Given the description of an element on the screen output the (x, y) to click on. 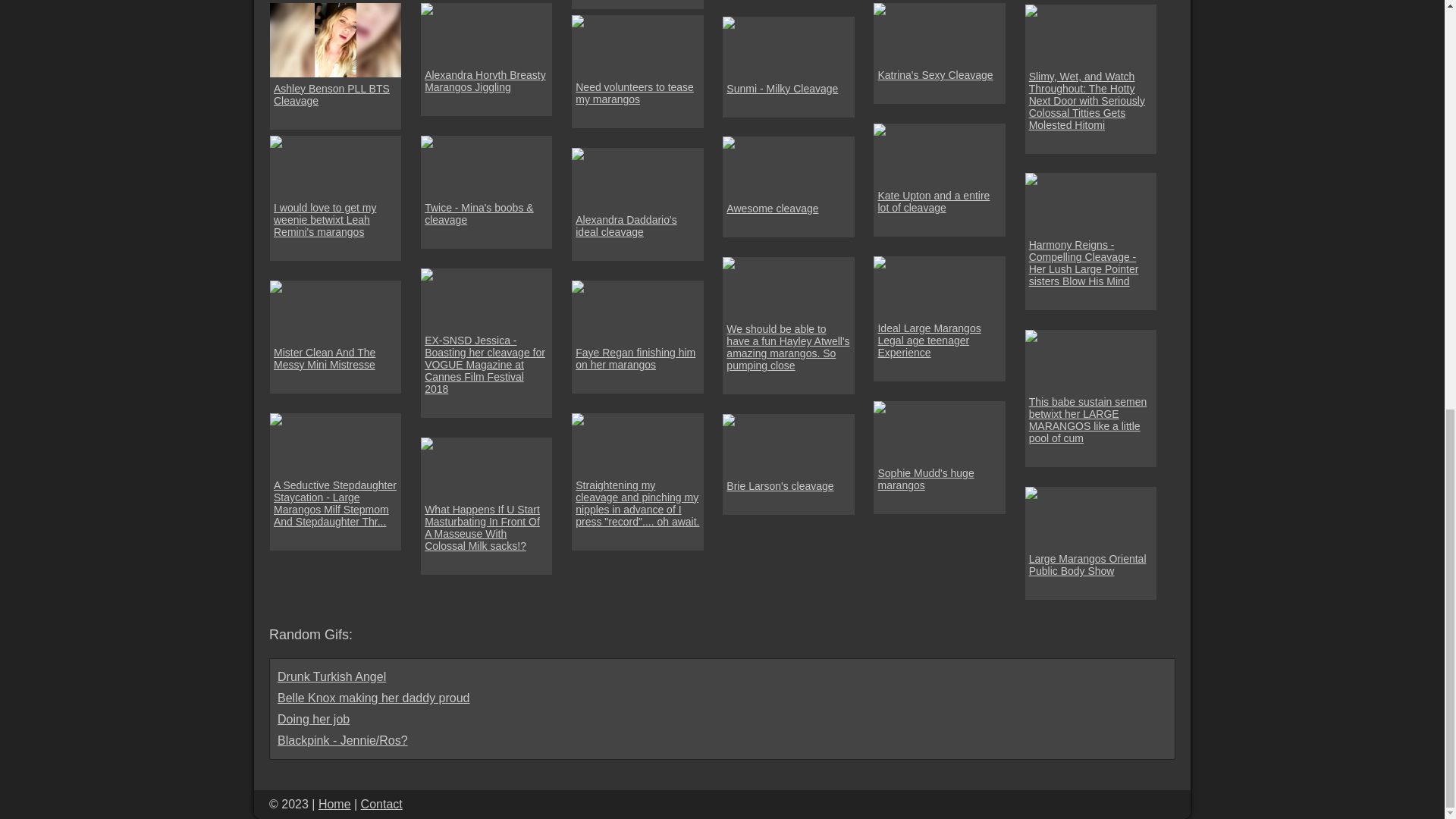
Awesome cleavage (772, 208)
Kate Upton and a entire lot of cleavage (939, 201)
I would love to get my weenie betwixt Leah Remini's marangos (335, 219)
Need volunteers to tease my marangos (636, 93)
Katrina's Sexy Cleavage (934, 74)
Alexandra Horvth Breasty Marangos Jiggling (486, 80)
Sunmi - Milky Cleavage (782, 88)
Ashley Benson PLL BTS Cleavage (335, 94)
